Given the description of an element on the screen output the (x, y) to click on. 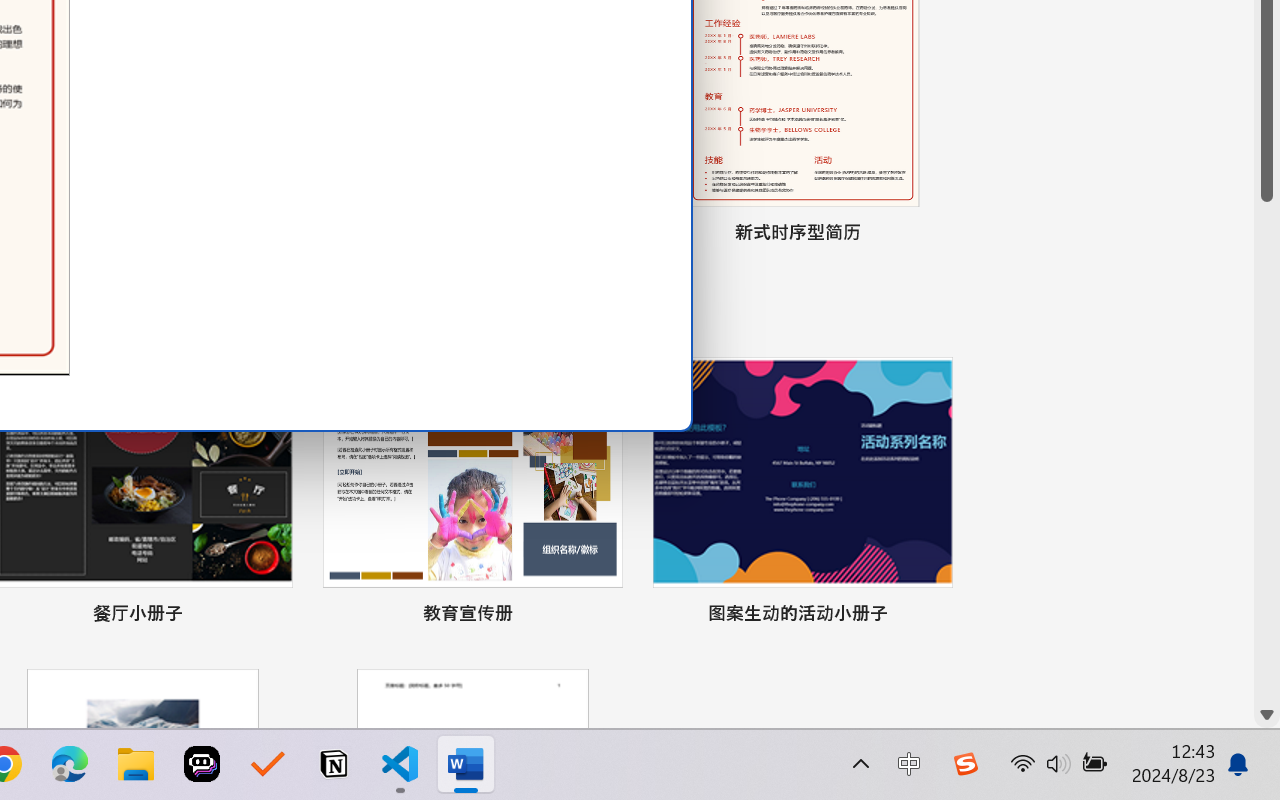
Line down (1267, 715)
Page down (1267, 451)
Microsoft Edge (69, 764)
